Given the description of an element on the screen output the (x, y) to click on. 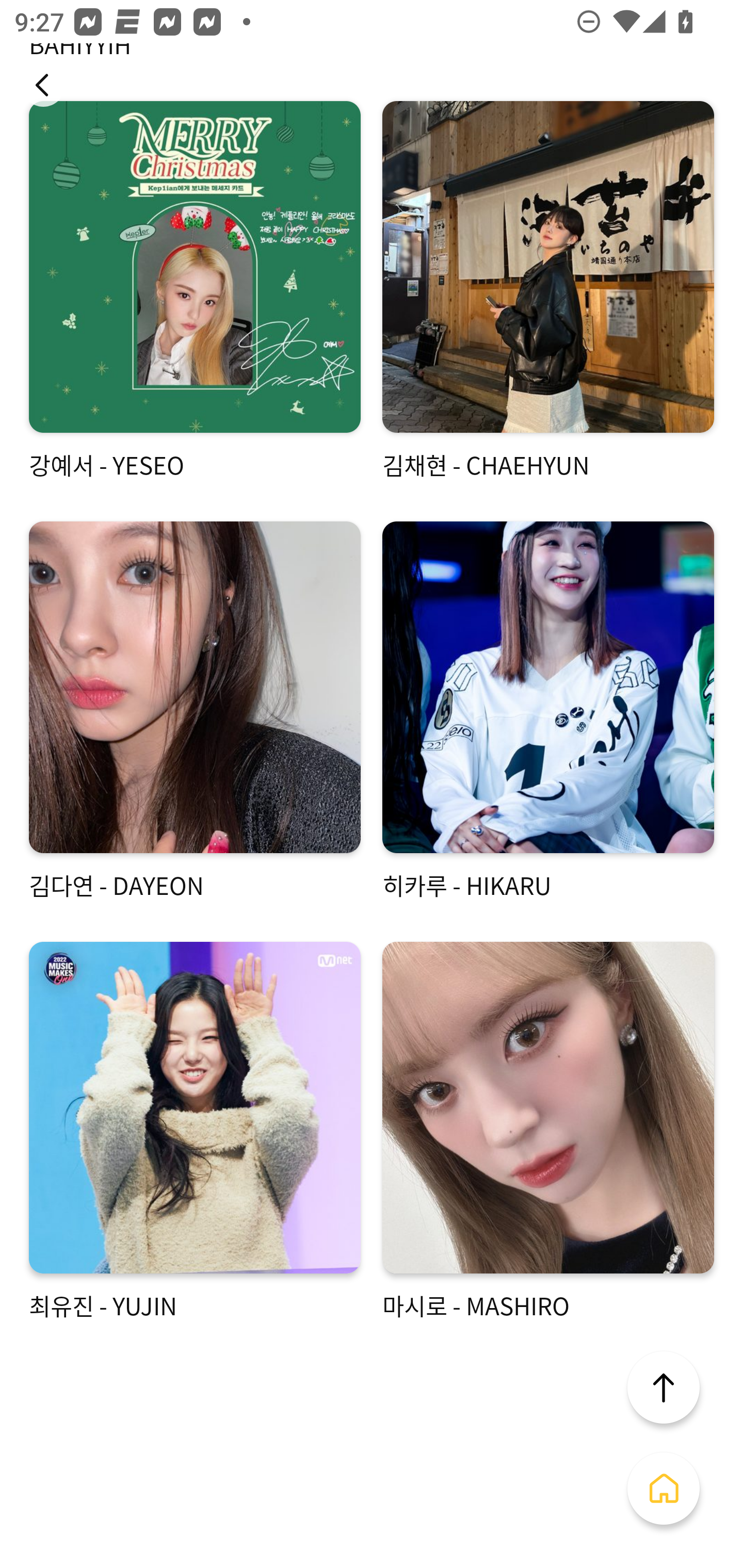
강예서  -  YESEO (194, 290)
김채현  -  CHAEHYUN (548, 290)
김다연  -  DAYEON (194, 711)
히카루  -  HIKARU (548, 711)
최유진  -  YUJIN (194, 1131)
마시로  -  MASHIRO (548, 1131)
